Given the description of an element on the screen output the (x, y) to click on. 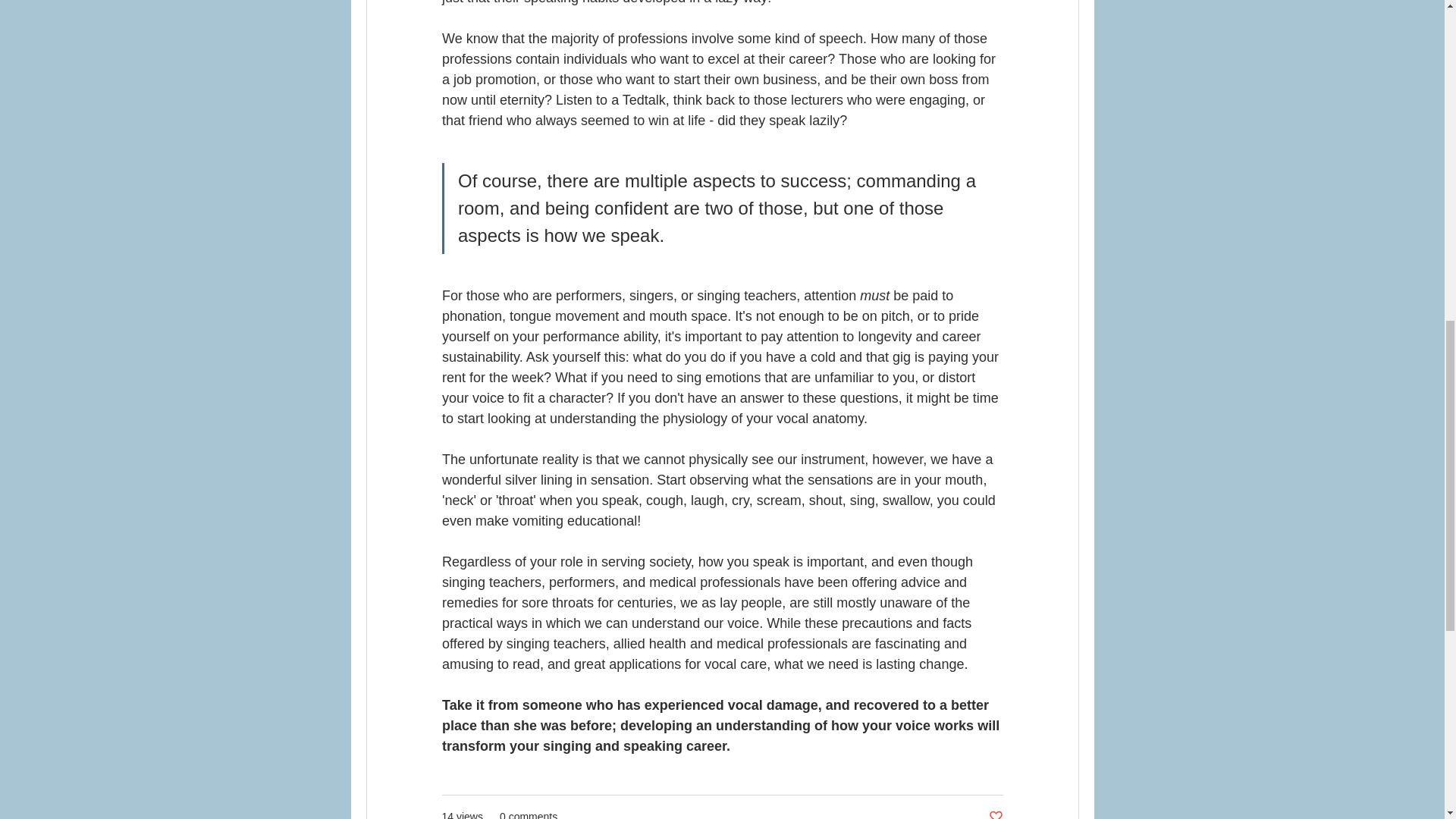
Post not marked as liked (995, 814)
